Given the description of an element on the screen output the (x, y) to click on. 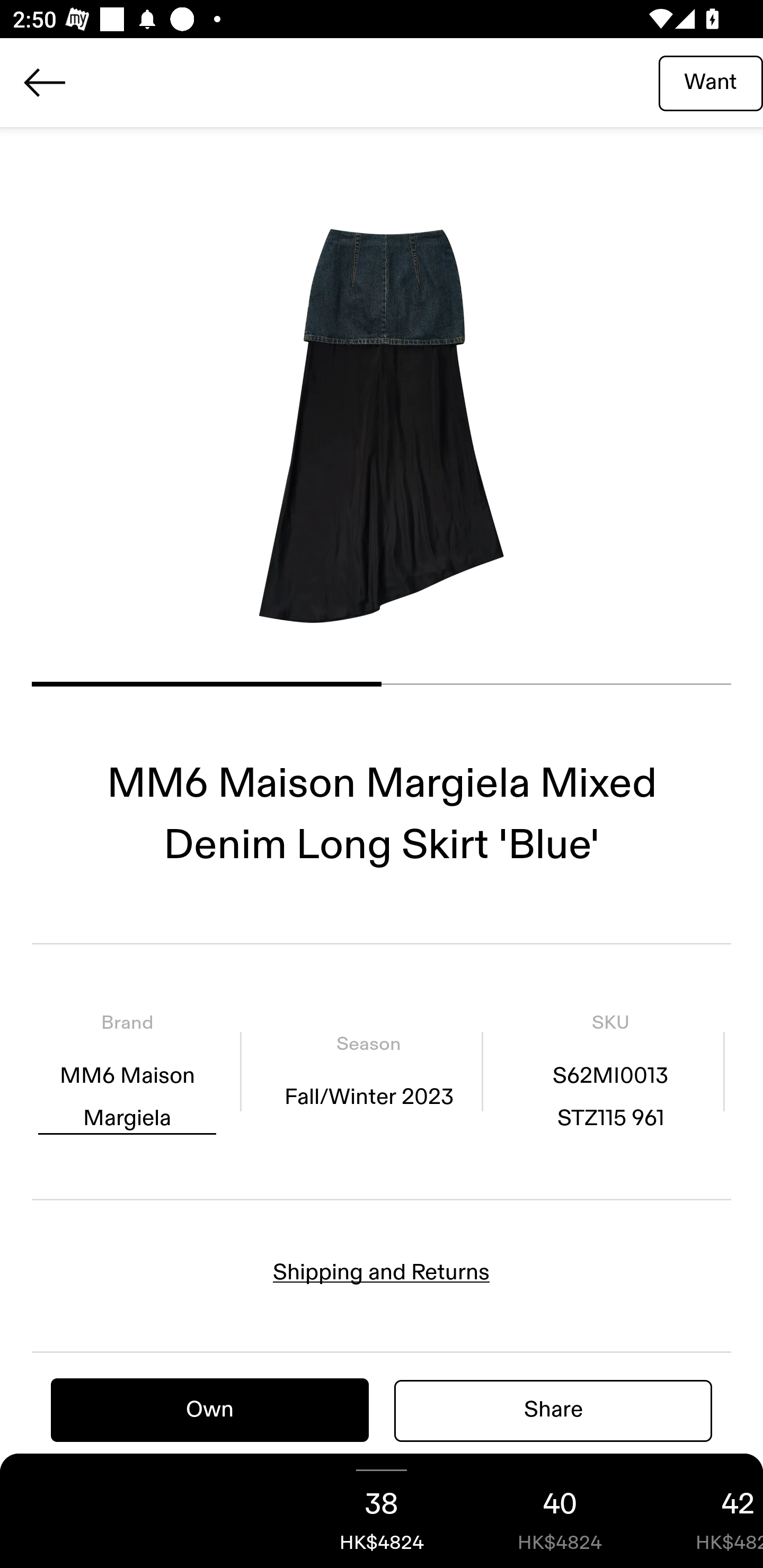
Want (710, 82)
Brand MM6 Maison Margiela (126, 1070)
Season Fall/Winter 2023 (368, 1070)
SKU S62MI0013 STZ115 961 (609, 1070)
Shipping and Returns (381, 1272)
Own (209, 1410)
Share (552, 1410)
38 HK$4824 (381, 1510)
40 HK$4824 (559, 1510)
42 HK$4824 (705, 1510)
